Given the description of an element on the screen output the (x, y) to click on. 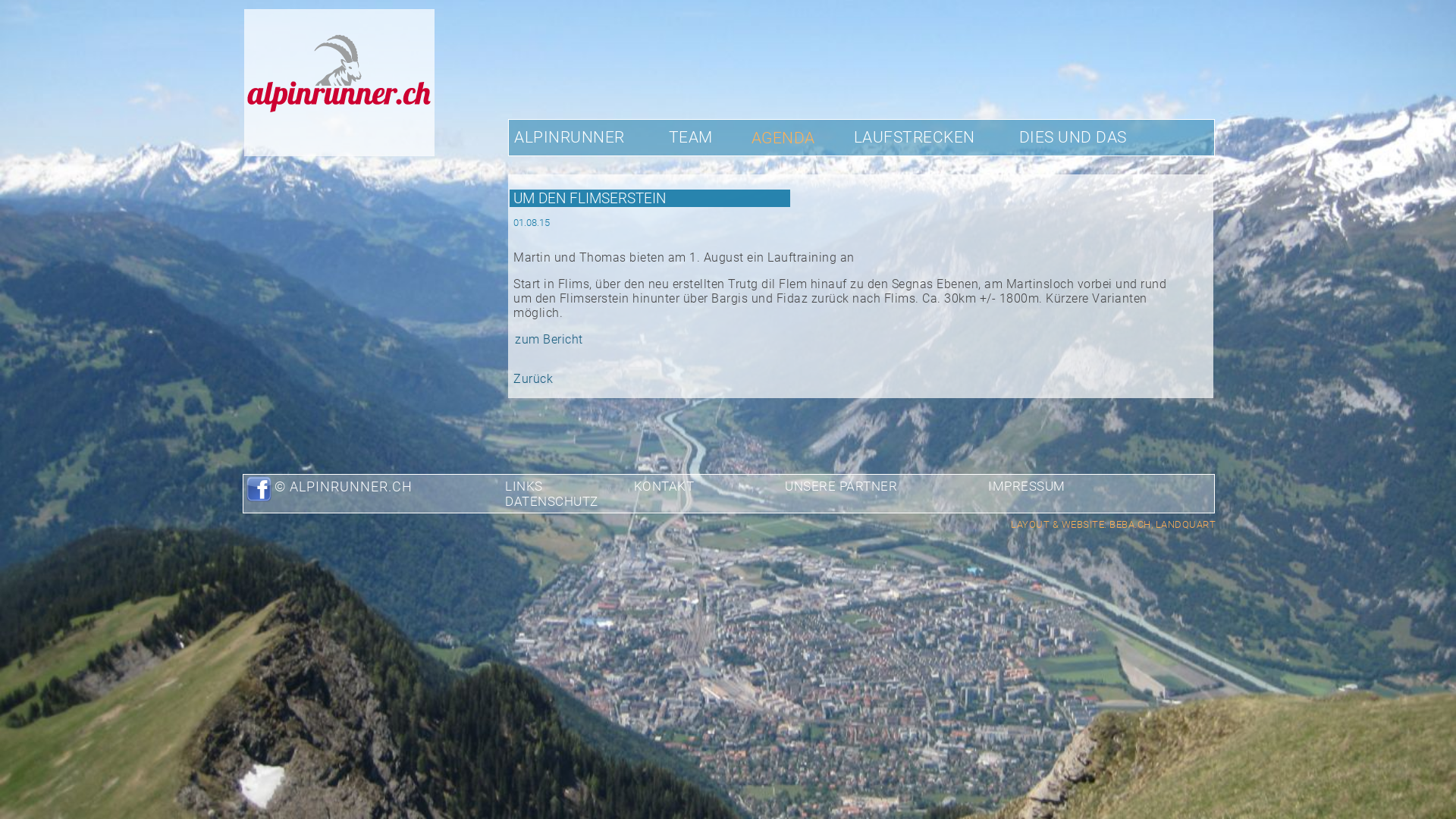
zum Bericht Element type: text (548, 339)
AGENDA Element type: text (782, 137)
Besuche Alpinrunner auf Facebook Element type: hover (258, 498)
IMPRESSUM Element type: text (1049, 486)
  Element type: text (513, 126)
LAYOUT & WEBSITE: BEBA.CH, LANDQUART Element type: text (1112, 524)
KONTAKT Element type: text (686, 486)
LAUFSTRECKEN Element type: text (913, 136)
UNSERE PARTNER Element type: text (863, 486)
DIES UND DAS Element type: text (1072, 136)
LINKS Element type: text (546, 486)
TEAM Element type: text (689, 136)
ALPINRUNNER Element type: text (569, 136)
 startseite alpinrunner.ch Element type: hover (338, 151)
  Element type: text (1155, 486)
DATENSCHUTZ Element type: text (574, 501)
